Given the description of an element on the screen output the (x, y) to click on. 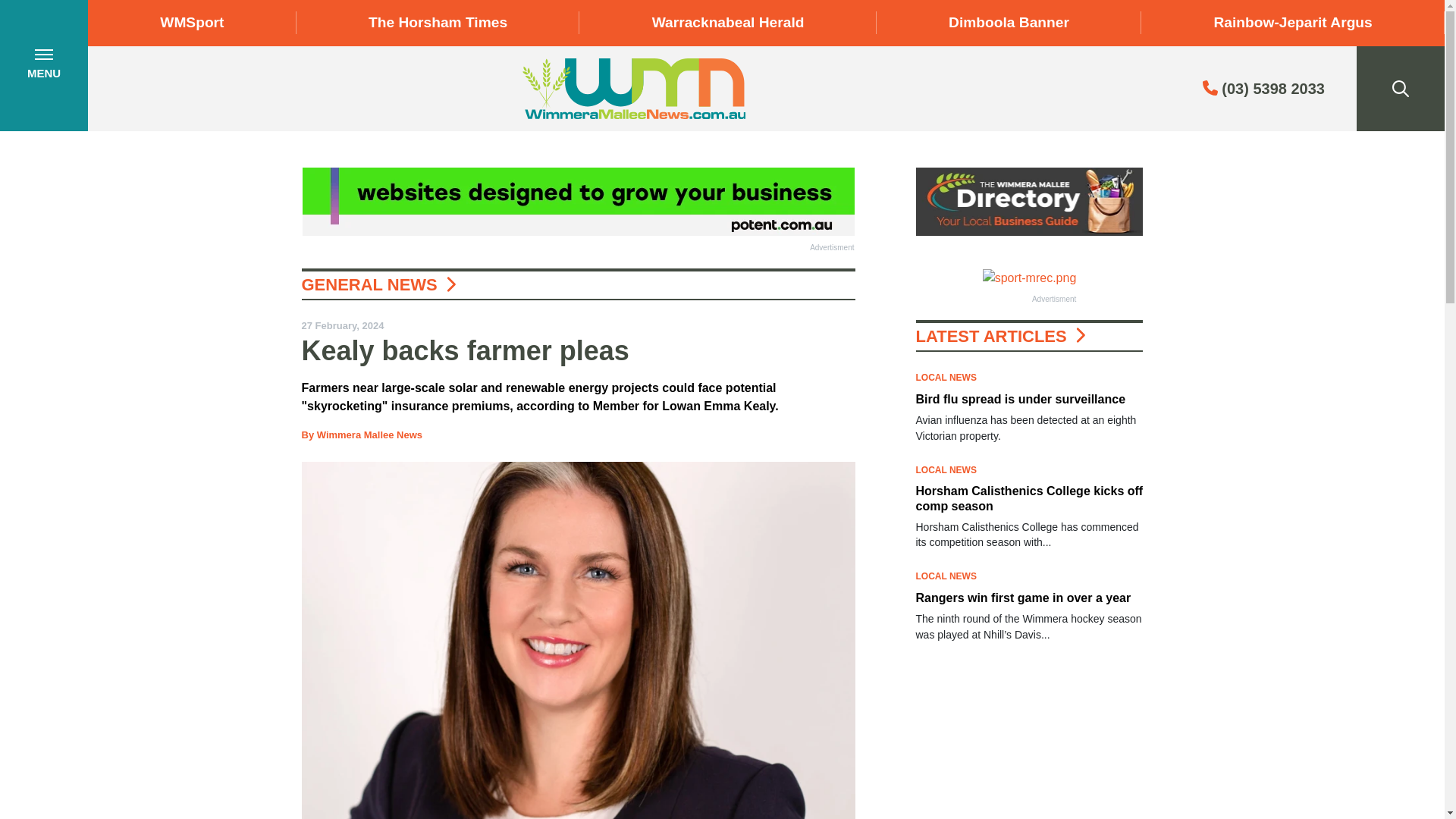
Warracknabeal Herald (727, 22)
The Horsham Times (438, 22)
Dimboola Banner (1008, 22)
WMSport (192, 22)
